Given the description of an element on the screen output the (x, y) to click on. 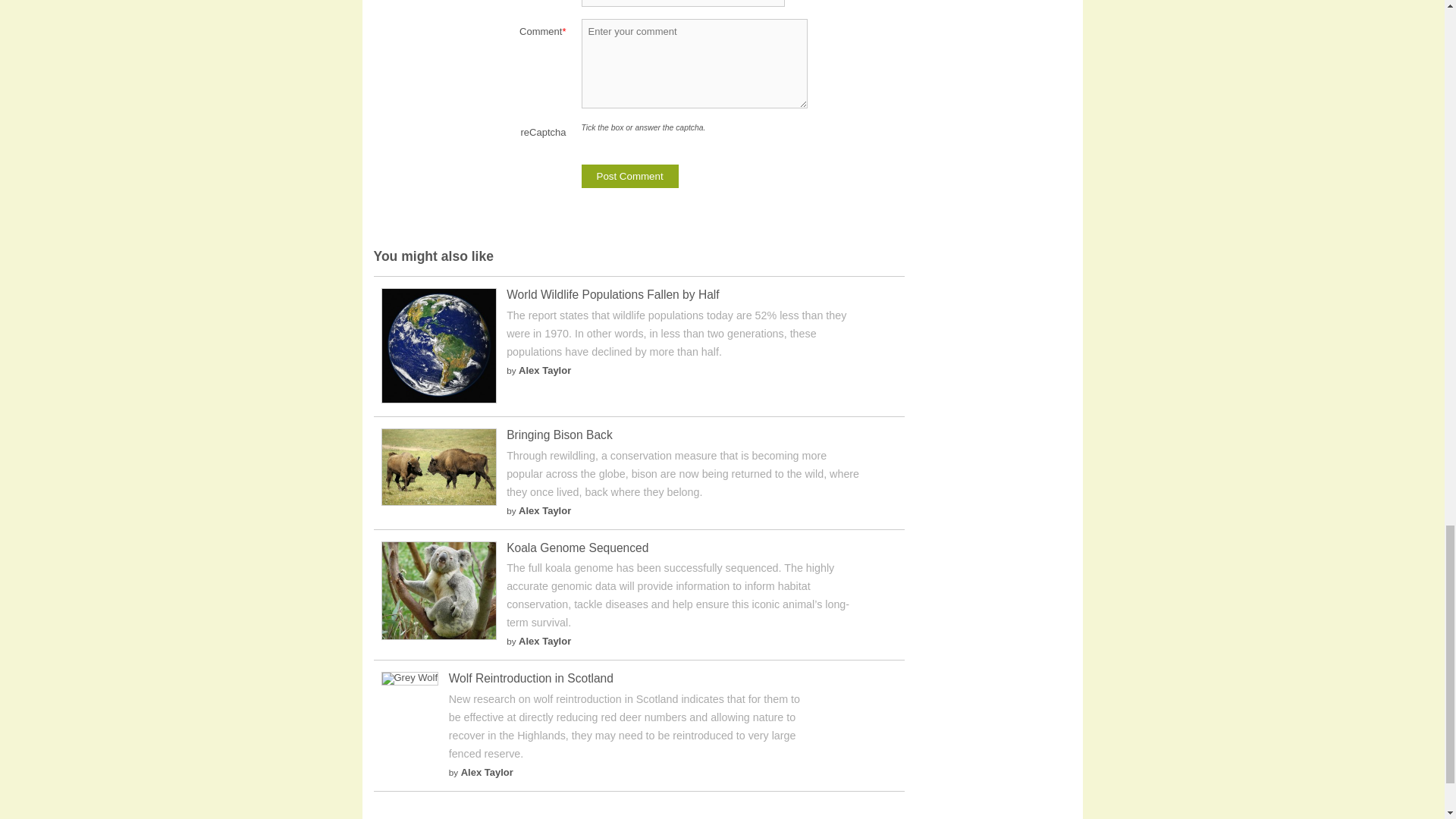
Wolf Reintroduction in Scotland (530, 677)
Bringing Bison Back (438, 501)
World Wildlife Populations Fallen by Half (612, 294)
Wolf Reintroduction in Scotland (530, 677)
Koala Genome Sequenced (576, 547)
World Wildlife Populations Fallen by Half (438, 399)
Bringing Bison Back (559, 434)
World Wildlife Populations Fallen by Half (612, 294)
Koala Genome Sequenced (438, 636)
Post Comment (629, 176)
Post Comment (629, 176)
Post Comment (629, 176)
Koala Genome Sequenced (576, 547)
Bringing Bison Back (559, 434)
Wolf Reintroduction in Scotland (409, 677)
